Given the description of an element on the screen output the (x, y) to click on. 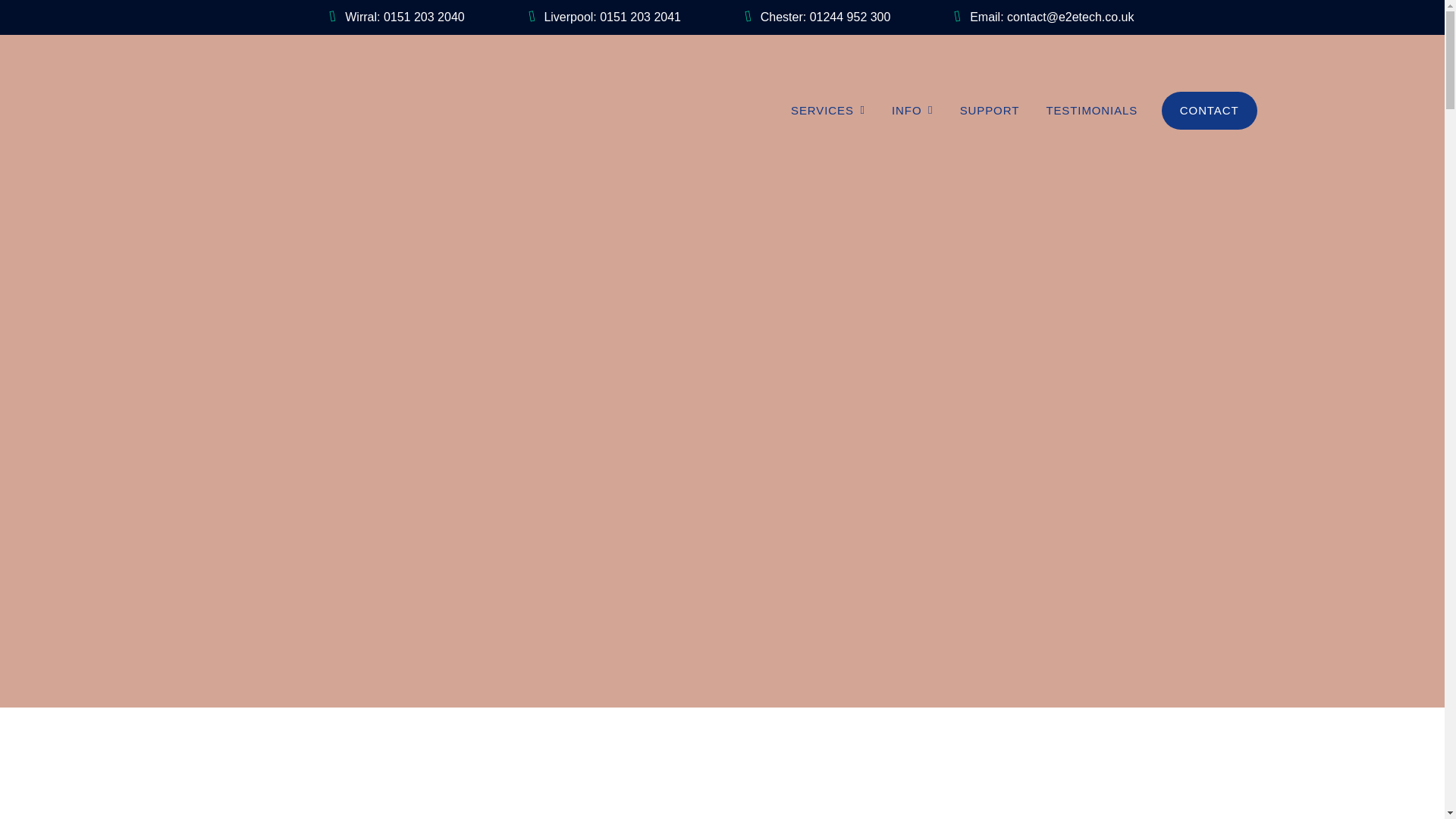
Wirral: 0151 203 2040 (397, 16)
CONTACT (1209, 110)
TESTIMONIALS (1091, 109)
SERVICES (827, 109)
Services (827, 109)
SUPPORT (989, 109)
Liverpool: 0151 203 2041 (605, 16)
E2E (244, 108)
Info (911, 109)
Chester: 01244 952 300 (817, 16)
